Given the description of an element on the screen output the (x, y) to click on. 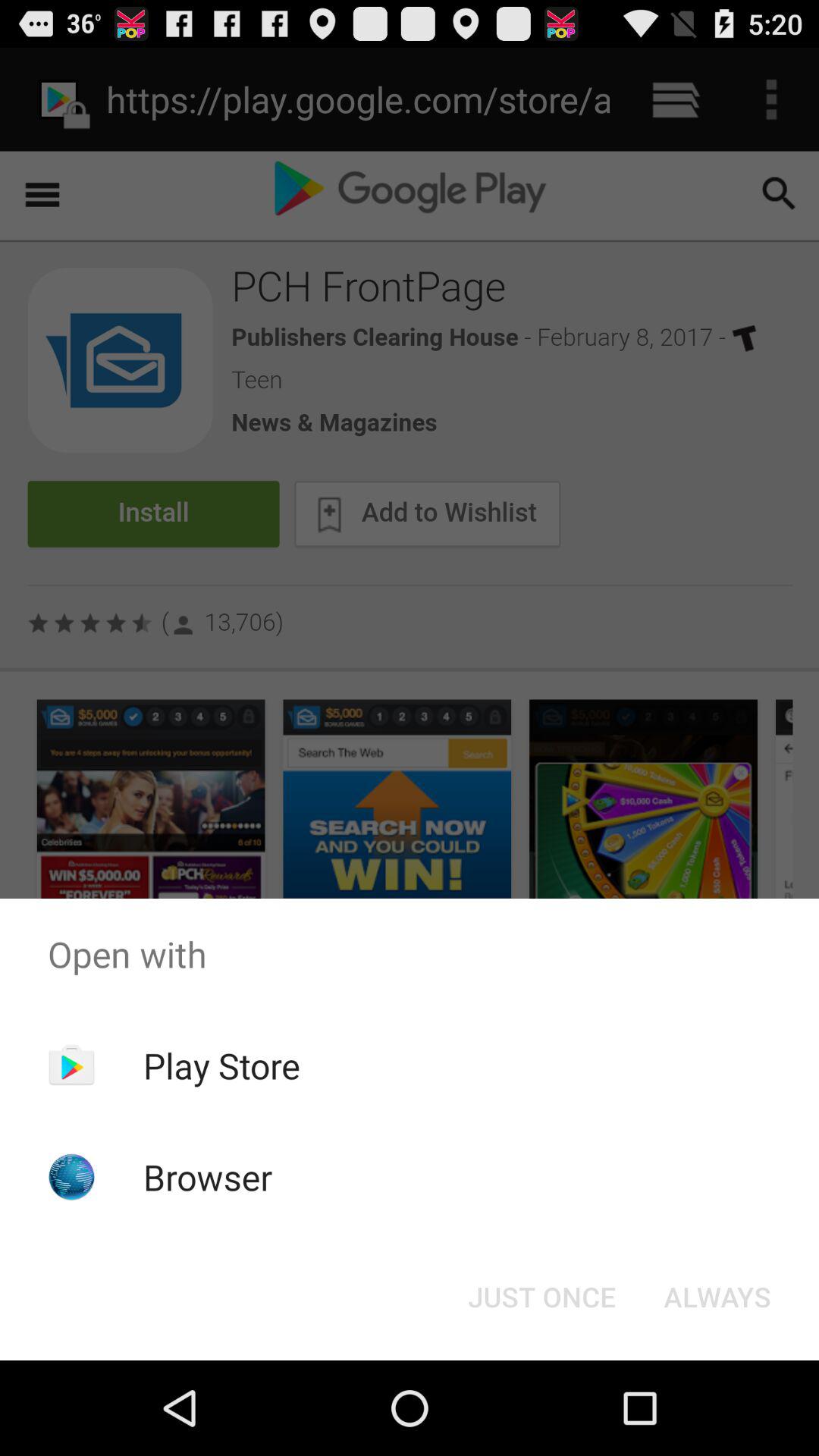
jump until the always button (717, 1296)
